Given the description of an element on the screen output the (x, y) to click on. 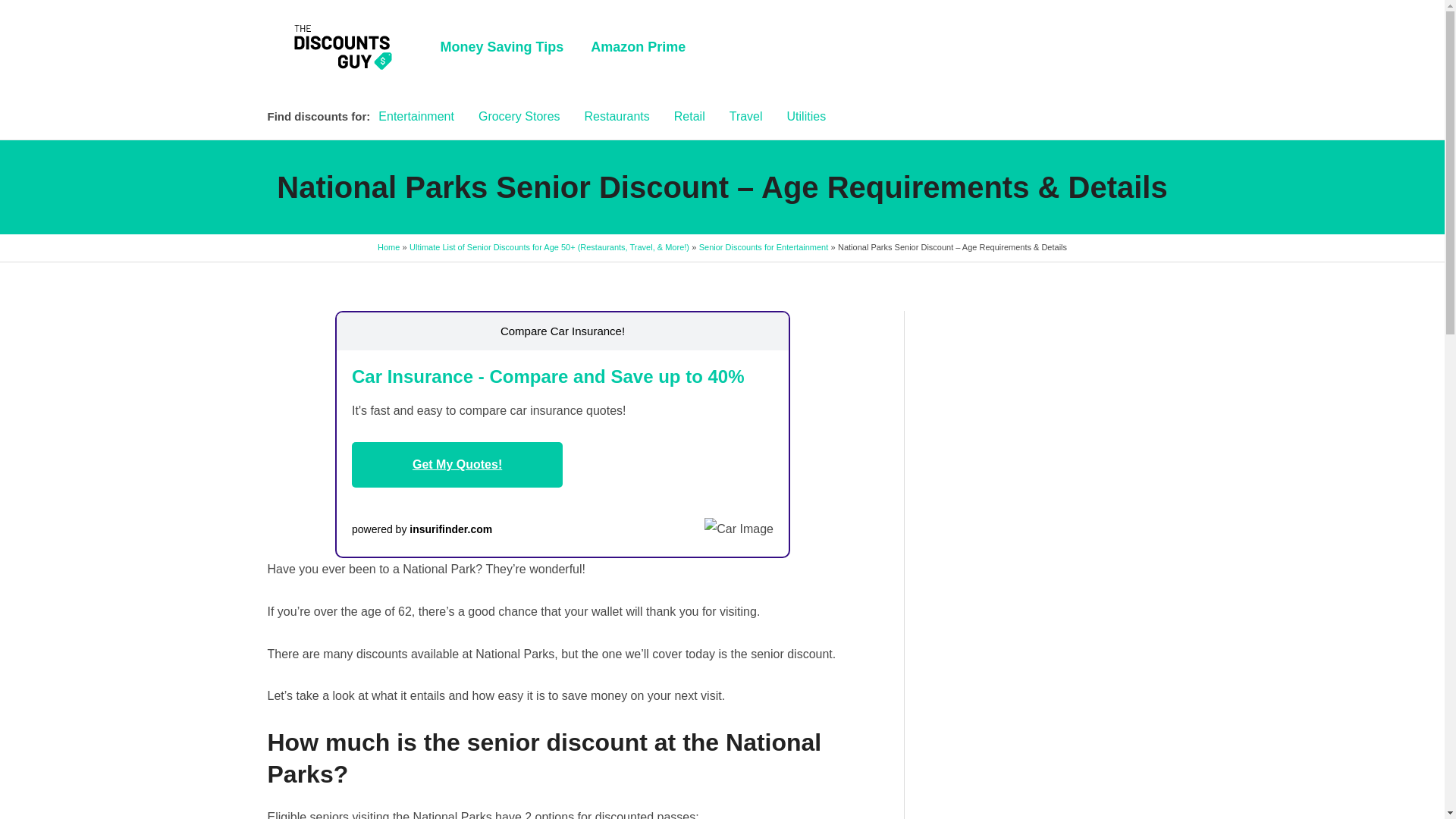
Entertainment (415, 116)
Amazon Prime (637, 46)
Travel (745, 116)
Retail (689, 116)
Utilities (806, 116)
Get My Quotes! (457, 464)
Home (387, 246)
Senior Discounts for Entertainment (763, 246)
Money Saving Tips (501, 46)
Restaurants (617, 116)
Grocery Stores (518, 116)
